Given the description of an element on the screen output the (x, y) to click on. 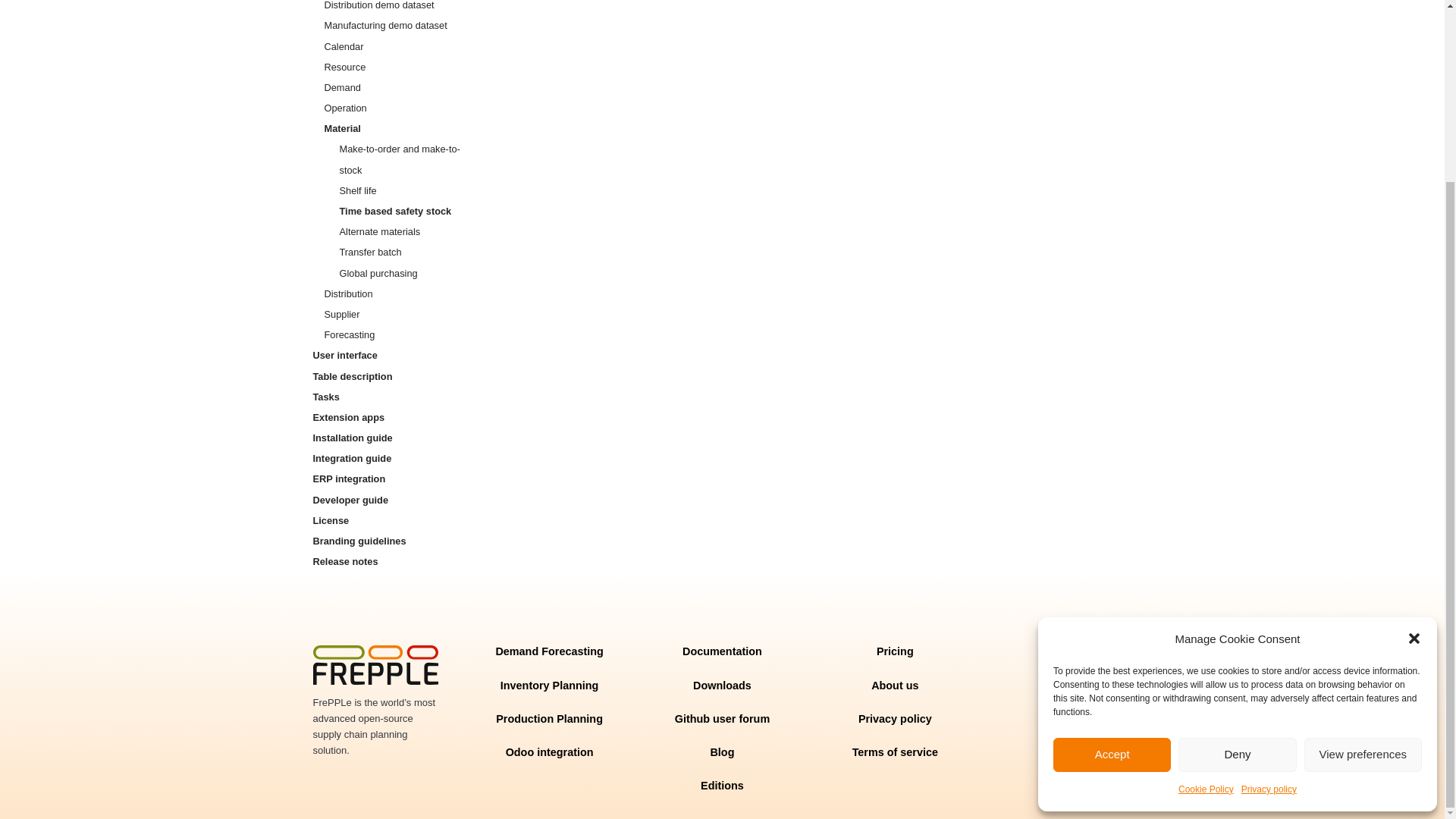
Privacy policy (1269, 566)
Cookie Policy (1205, 566)
View preferences (1363, 530)
Accept (1111, 530)
Deny (1236, 530)
